Given the description of an element on the screen output the (x, y) to click on. 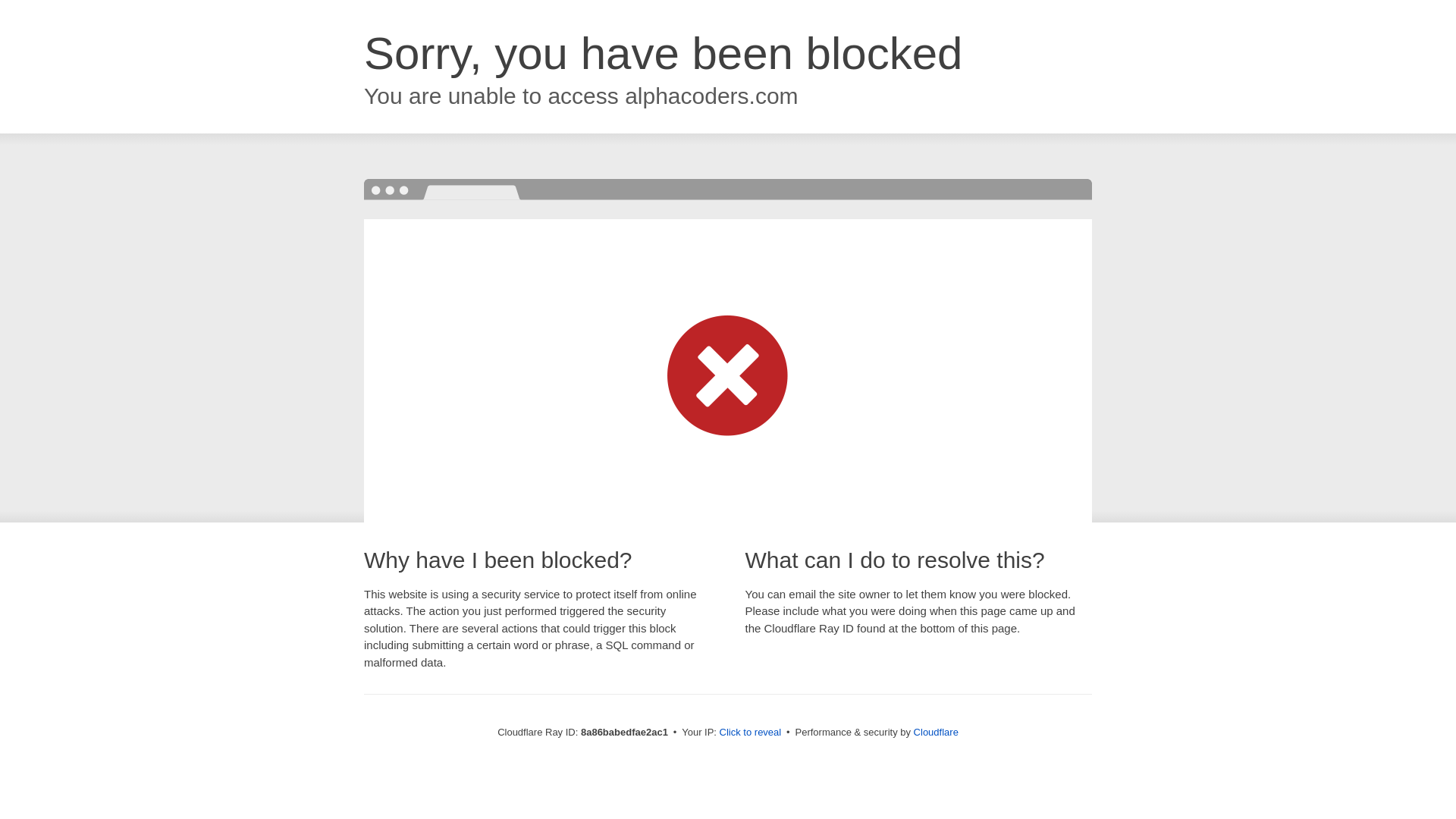
Click to reveal (750, 732)
Cloudflare (936, 731)
